Given the description of an element on the screen output the (x, y) to click on. 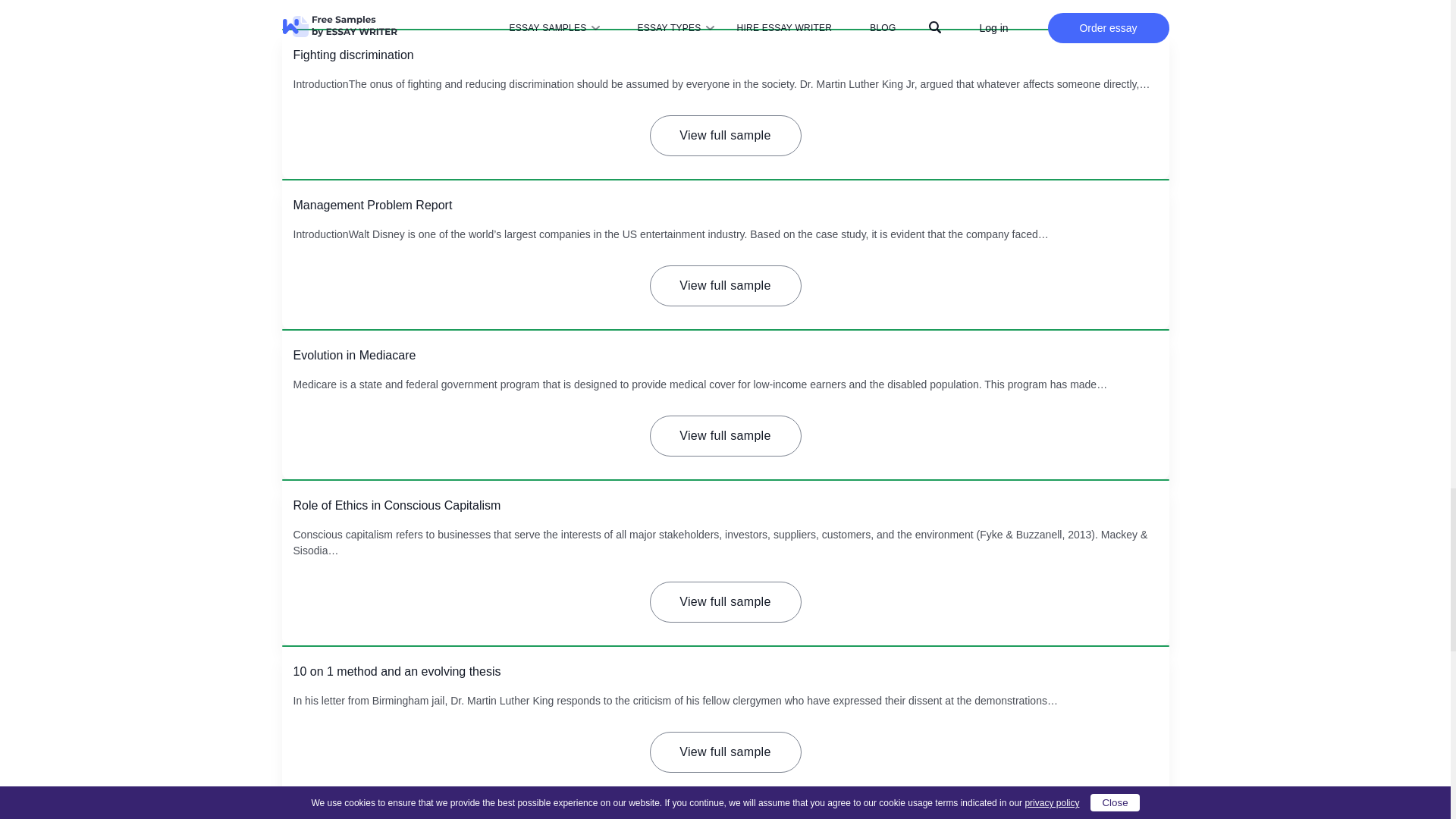
Evolution in Mediacare (353, 354)
Fighting discrimination (352, 54)
10 on 1 method and an evolving thesis (396, 671)
Management Problem Report (371, 205)
Role of Ethics in Conscious Capitalism (396, 504)
